Given the description of an element on the screen output the (x, y) to click on. 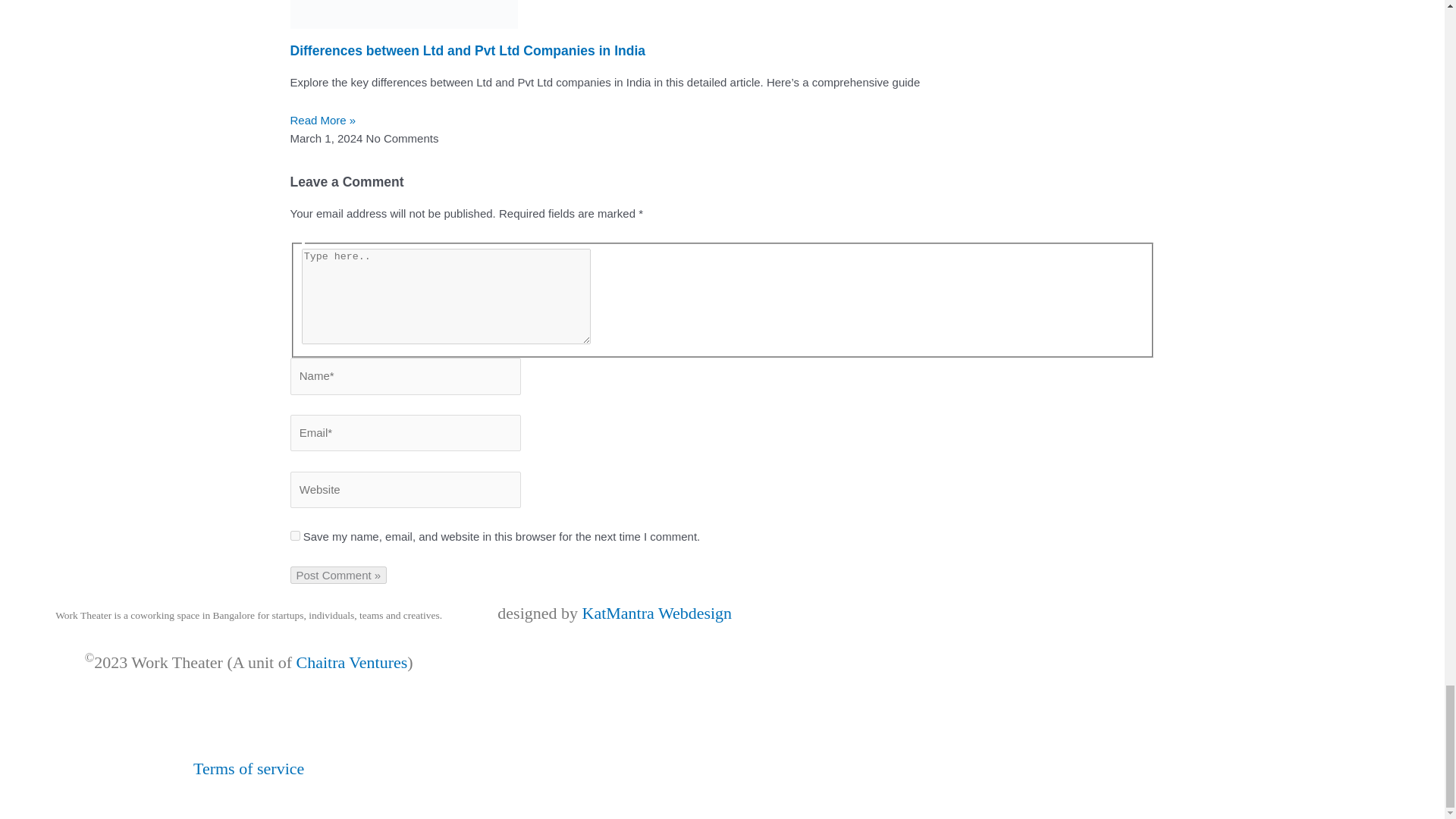
Terms of service (248, 768)
KatMantra Webdesign (657, 612)
Differences between Ltd and Pvt Ltd Companies in India (467, 50)
yes (294, 535)
Chaitra Ventures (351, 661)
